Given the description of an element on the screen output the (x, y) to click on. 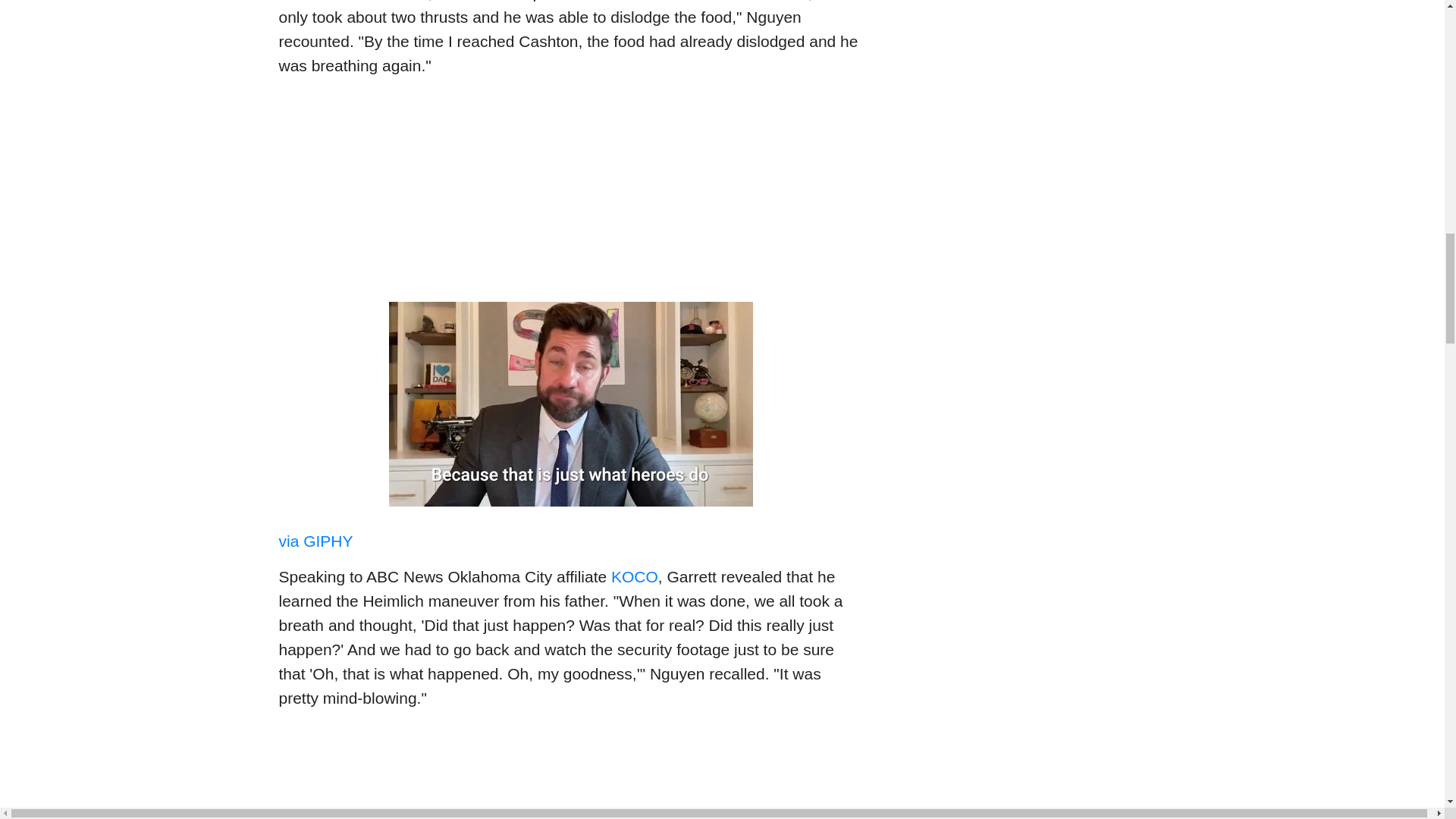
KOCO (634, 576)
via GIPHY (316, 540)
